Given the description of an element on the screen output the (x, y) to click on. 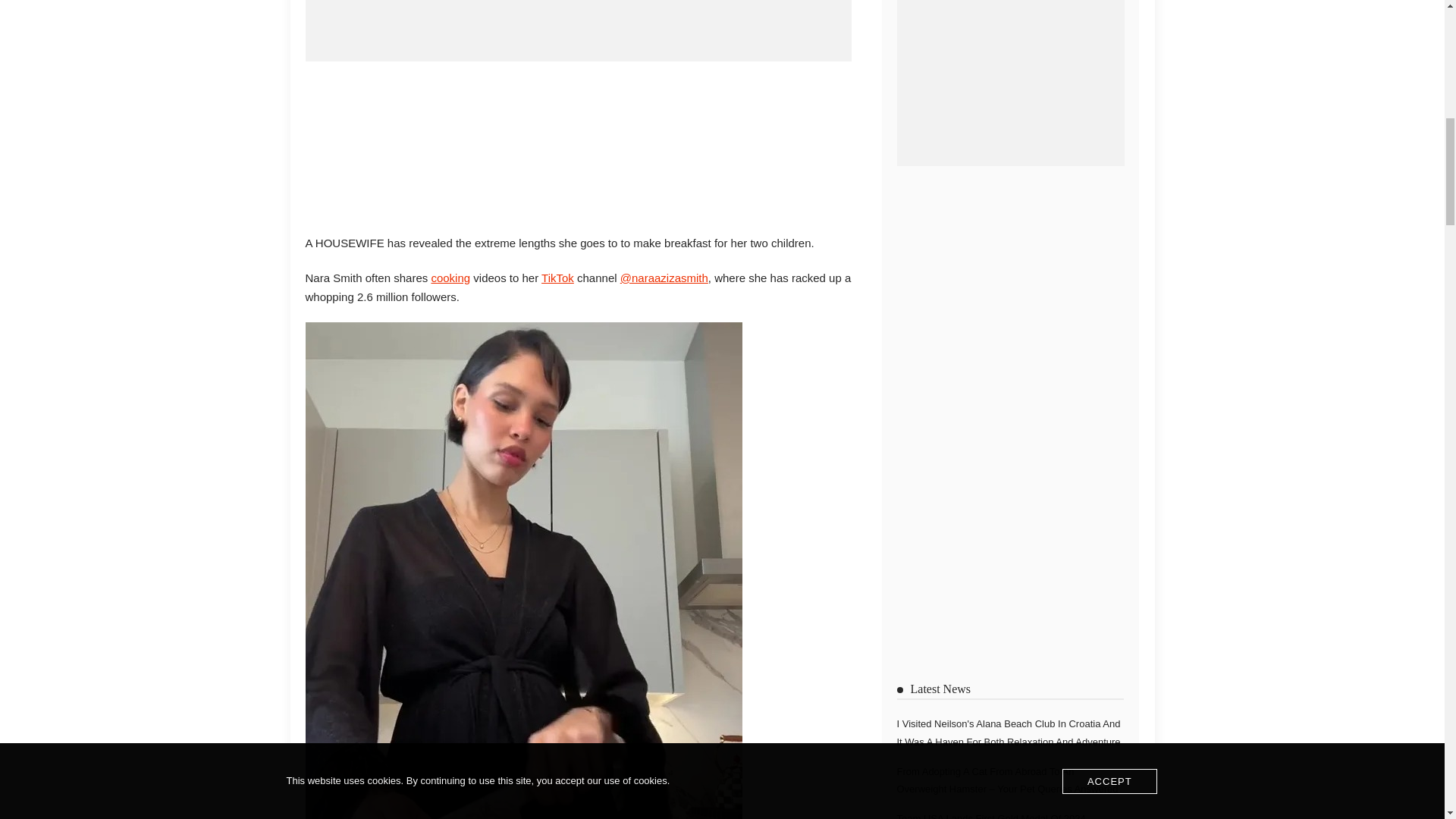
Advertisement (577, 144)
